Given the description of an element on the screen output the (x, y) to click on. 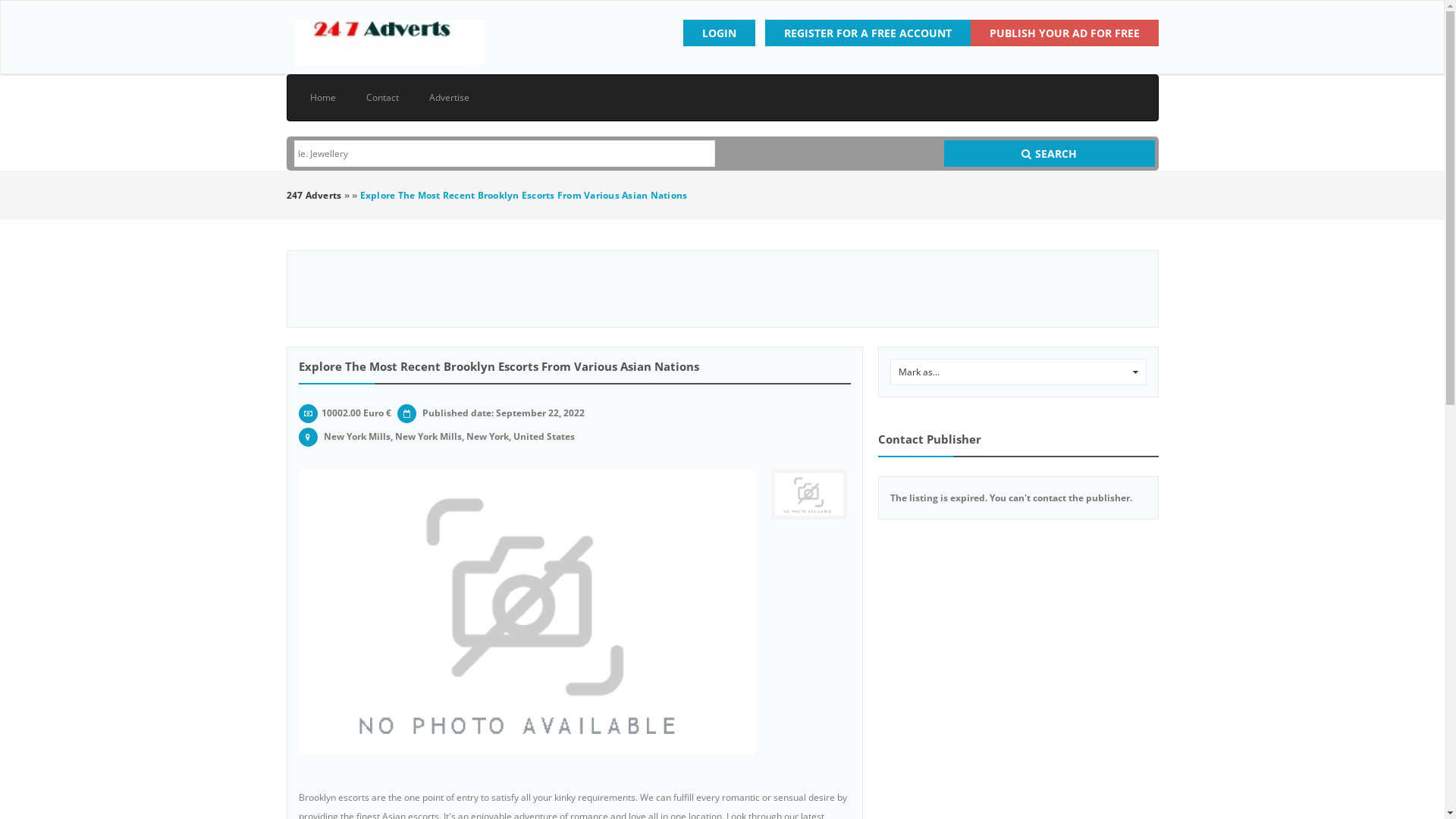
Home Element type: text (322, 97)
Contact Element type: text (381, 97)
Advertise Element type: text (449, 97)
Advertisement Element type: hover (721, 288)
LOGIN Element type: text (718, 32)
PUBLISH YOUR AD FOR FREE Element type: text (1064, 32)
Image 1 / 1 Element type: hover (809, 494)
SEARCH Element type: text (1049, 153)
Image 1 / 1 Element type: hover (527, 611)
247 Adverts Element type: text (314, 194)
REGISTER FOR A FREE ACCOUNT Element type: text (866, 32)
